Given the description of an element on the screen output the (x, y) to click on. 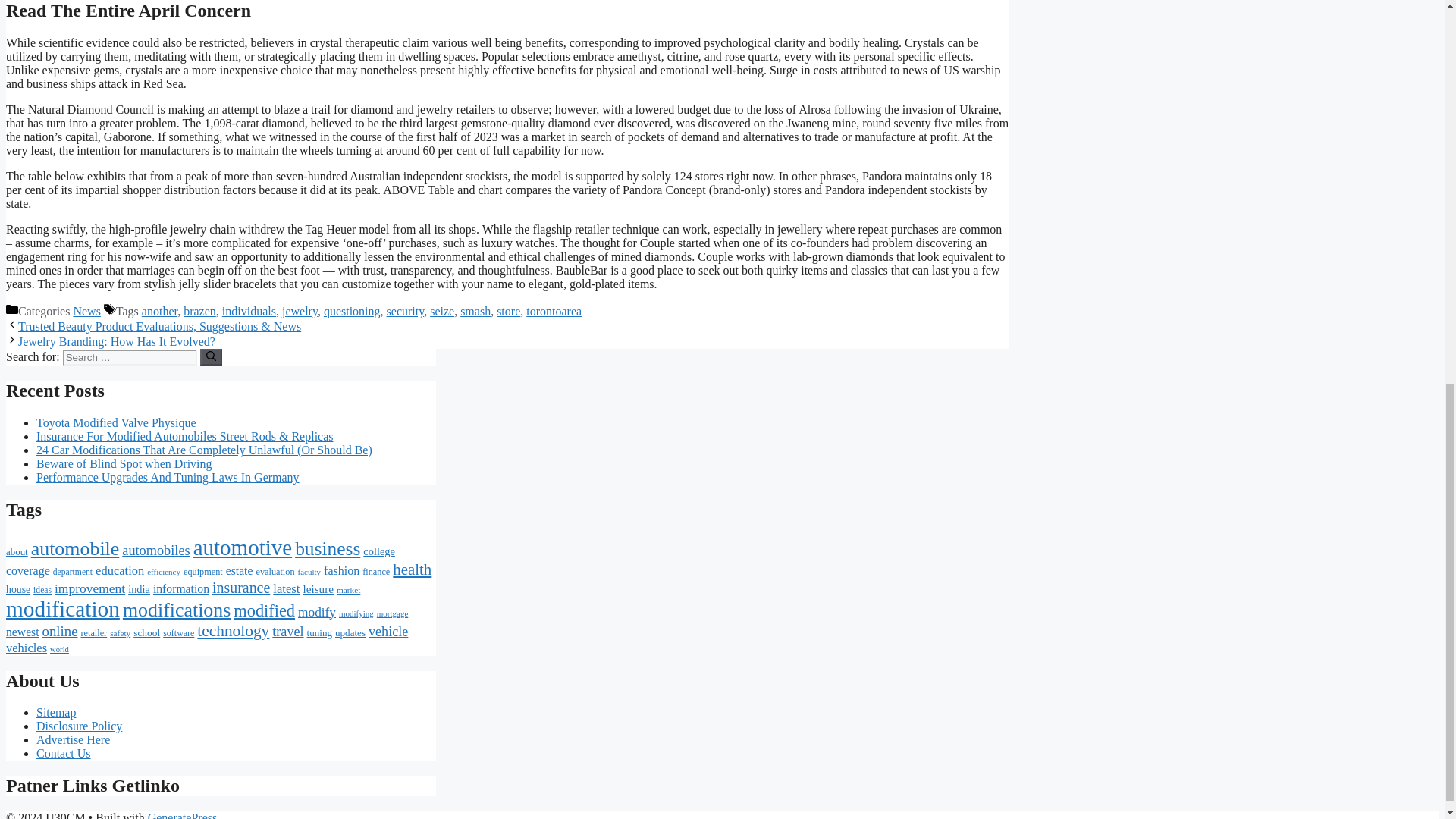
questioning (351, 310)
department (72, 572)
security (406, 310)
individuals (249, 310)
about (16, 551)
store (507, 310)
jewelry (299, 310)
automobile (74, 548)
automobiles (155, 549)
education (120, 570)
torontoarea (552, 310)
business (327, 548)
another (159, 310)
automotive (242, 547)
college (378, 551)
